Given the description of an element on the screen output the (x, y) to click on. 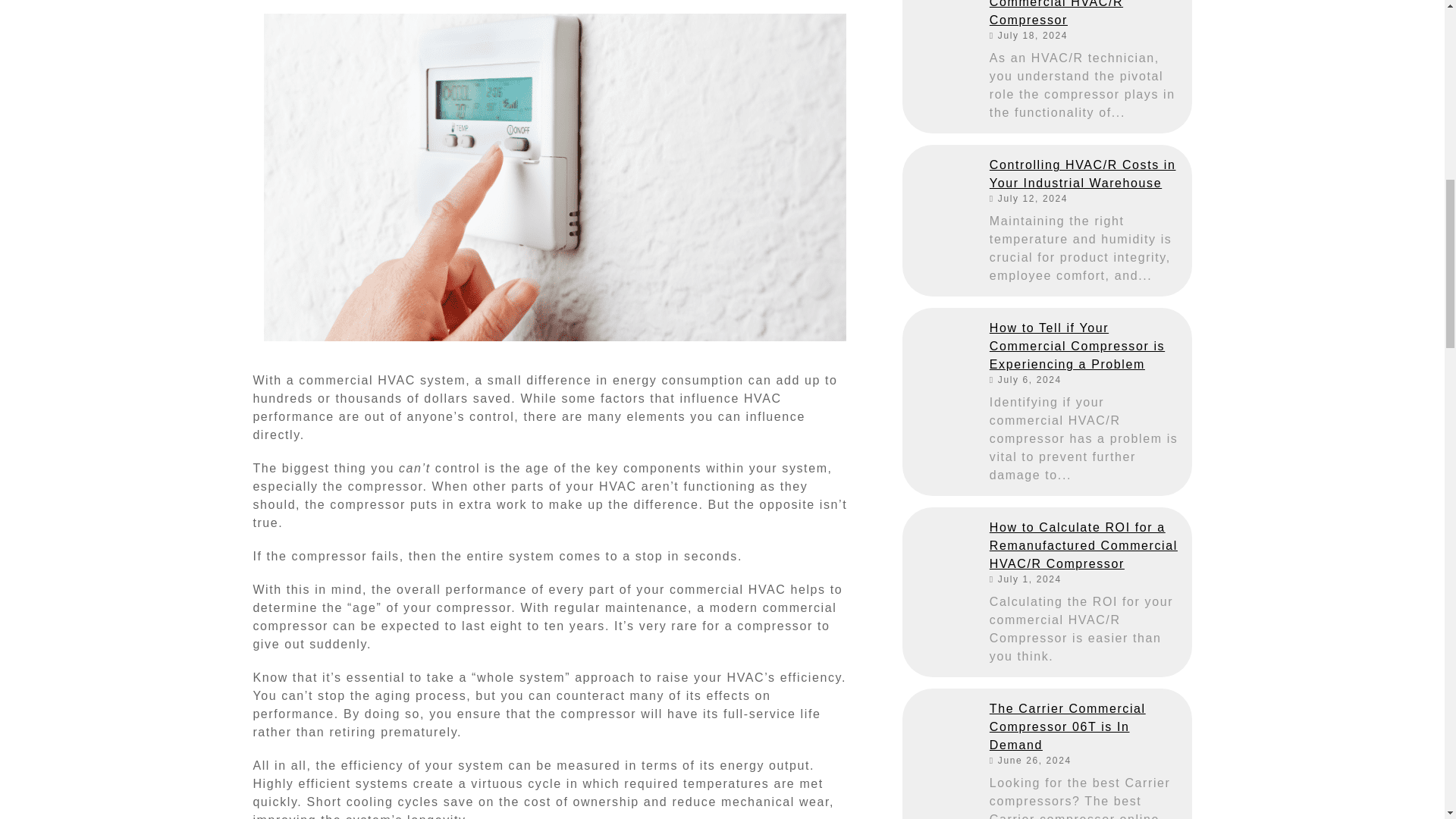
The Carrier Commercial Compressor 06T is In Demand (940, 726)
The Carrier Commercial Compressor 06T is In Demand (1085, 727)
